Given the description of an element on the screen output the (x, y) to click on. 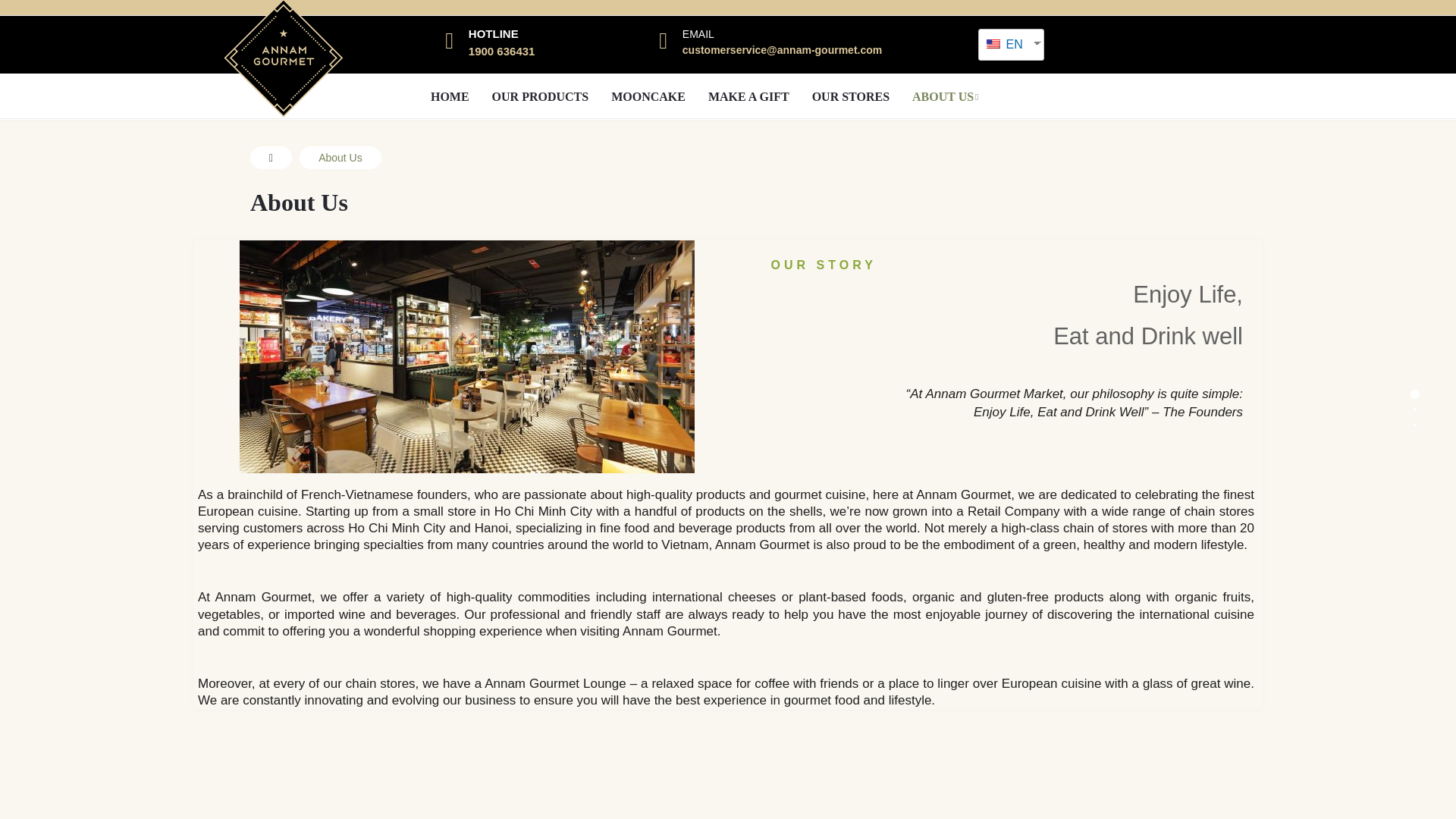
ABOUT US (945, 96)
MAKE A GIFT (748, 96)
OUR STORES (850, 96)
English (993, 43)
OUR PRODUCTS (539, 96)
EN (1004, 44)
English (1004, 44)
MOONCAKE (648, 96)
HOME (449, 96)
